Given the description of an element on the screen output the (x, y) to click on. 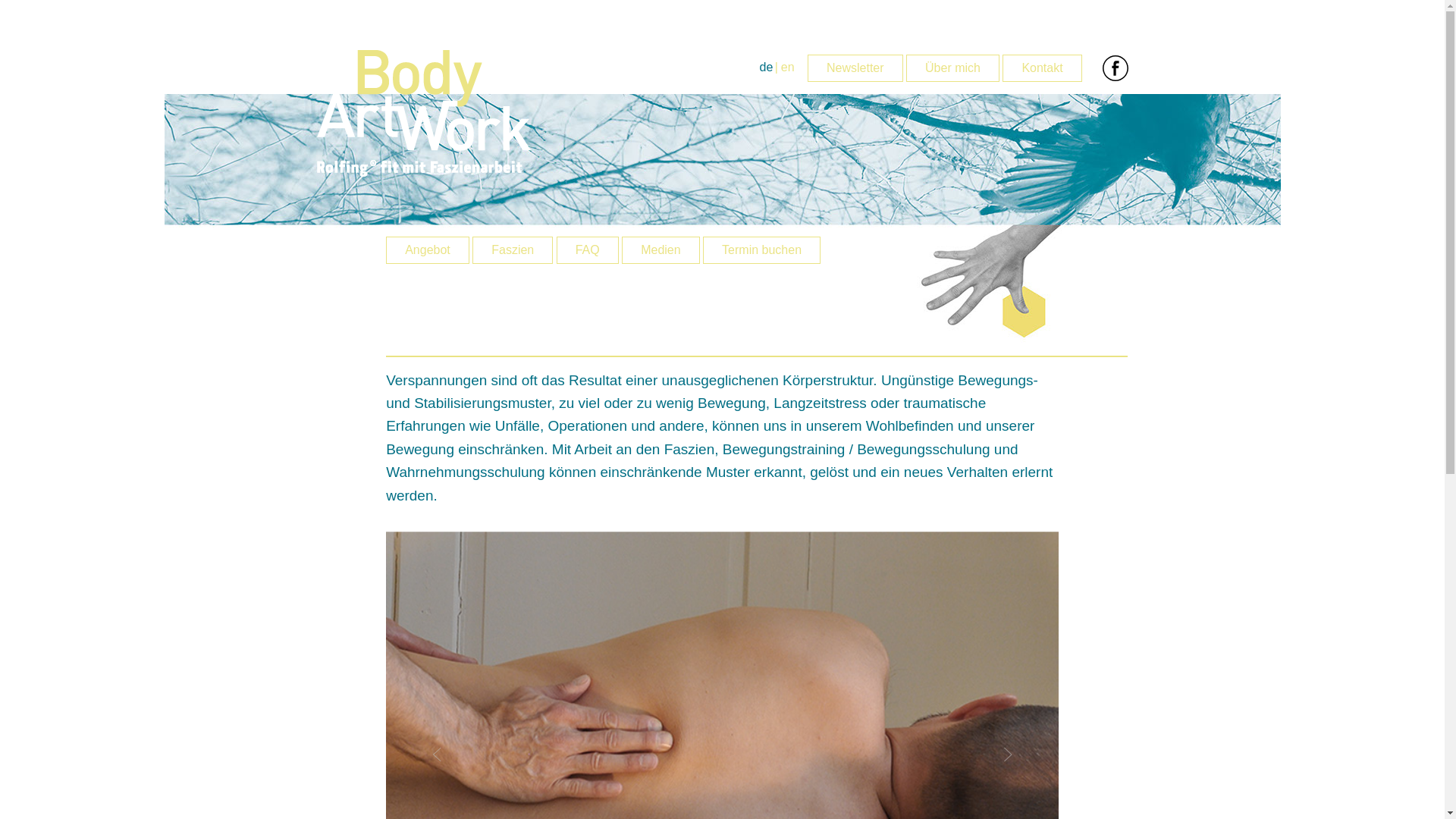
Newsletter Element type: text (855, 67)
Termin buchen Element type: text (761, 249)
Medien Element type: text (660, 249)
Angebot Element type: text (427, 249)
en Element type: text (787, 66)
Kontakt Element type: text (1041, 67)
de Element type: text (766, 66)
FAQ Element type: text (587, 249)
Faszien Element type: text (512, 249)
